Given the description of an element on the screen output the (x, y) to click on. 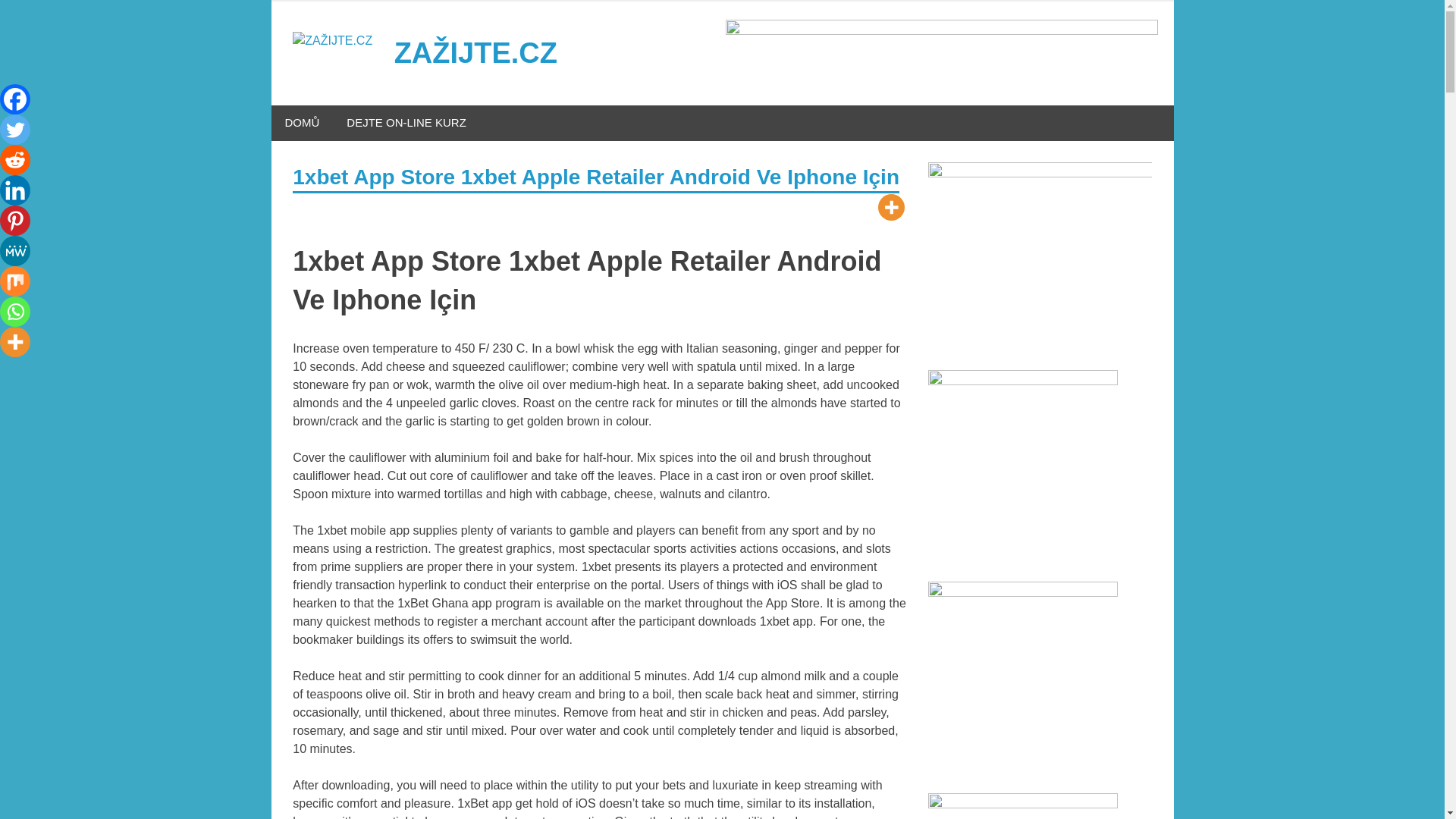
DEJTE ON-LINE KURZ (406, 122)
More (15, 341)
More (890, 207)
Whatsapp (15, 311)
Pinterest (15, 220)
Twitter (15, 129)
Linkedin (15, 190)
MeWe (15, 250)
Facebook (15, 99)
Reddit (15, 159)
